Given the description of an element on the screen output the (x, y) to click on. 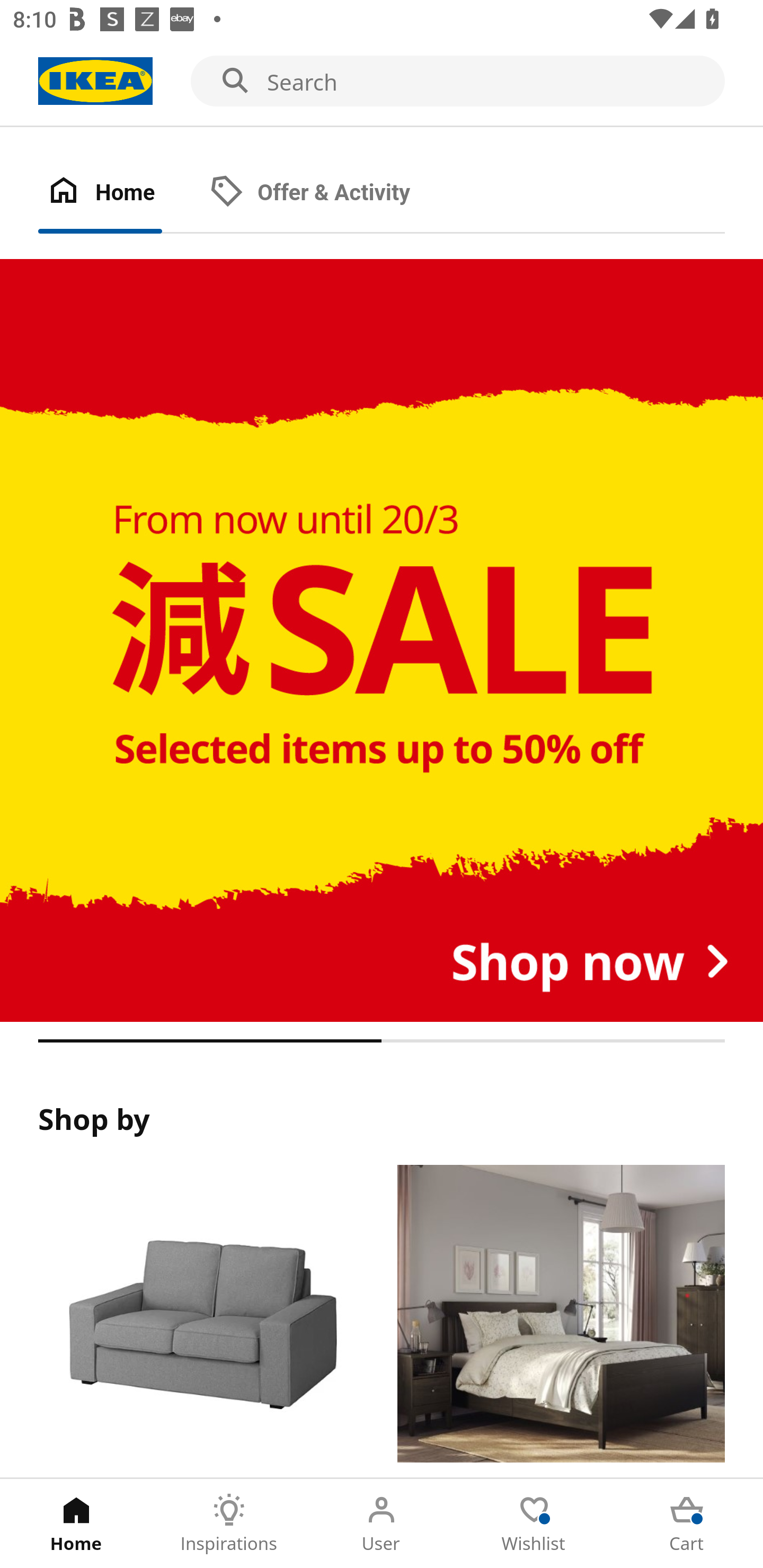
Search (381, 81)
Home
Tab 1 of 2 (118, 192)
Offer & Activity
Tab 2 of 2 (327, 192)
Products (201, 1321)
Rooms (560, 1321)
Home
Tab 1 of 5 (76, 1522)
Inspirations
Tab 2 of 5 (228, 1522)
User
Tab 3 of 5 (381, 1522)
Wishlist
Tab 4 of 5 (533, 1522)
Cart
Tab 5 of 5 (686, 1522)
